Given the description of an element on the screen output the (x, y) to click on. 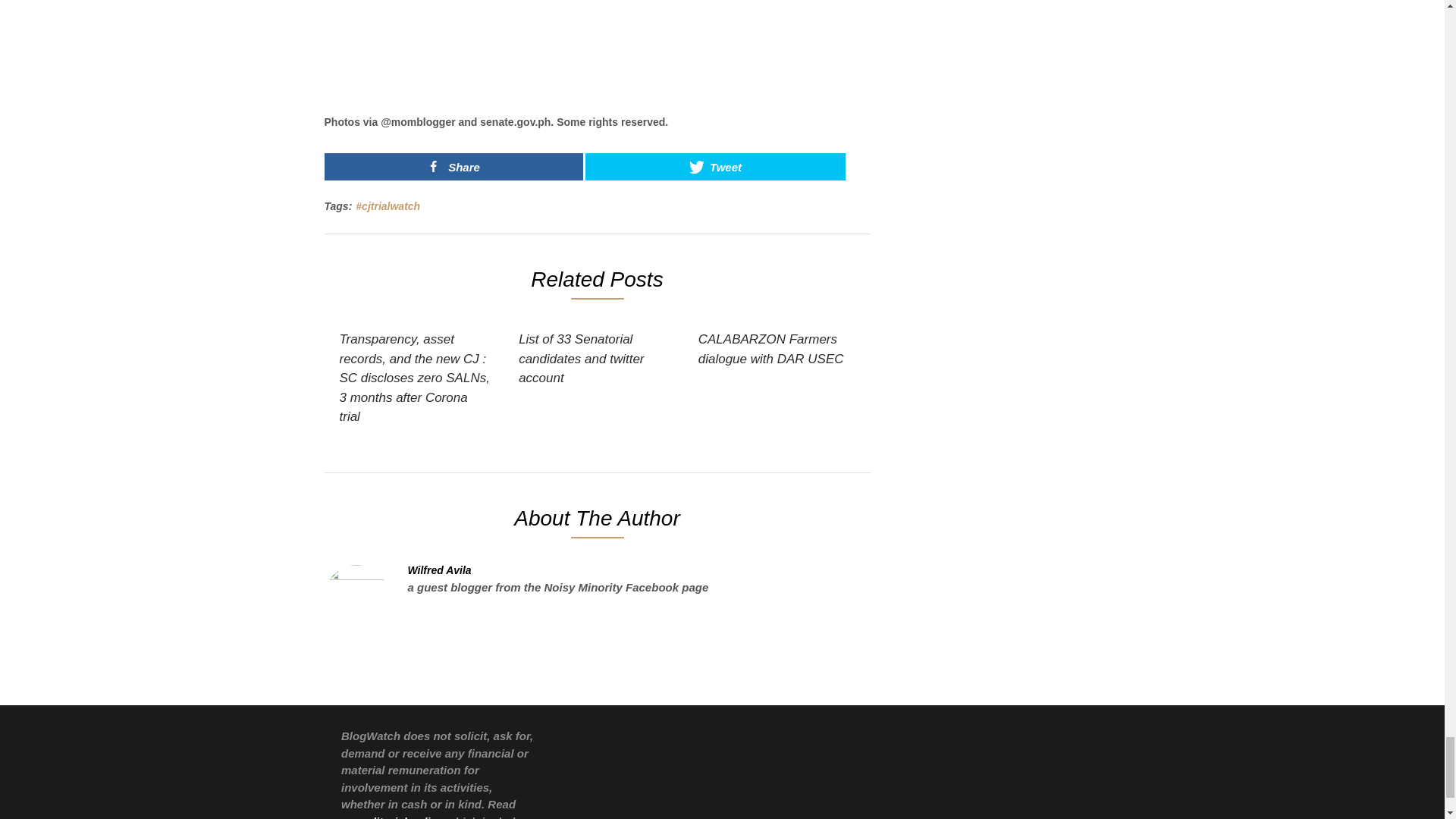
CALABARZON Farmers dialogue with DAR USEC (774, 348)
CALABARZON Farmers dialogue with DAR USEC (774, 348)
Share (453, 166)
Tweet (714, 166)
List of 33 Senatorial candidates and twitter account (593, 358)
List of 33 Senatorial candidates and twitter account (593, 358)
